Given the description of an element on the screen output the (x, y) to click on. 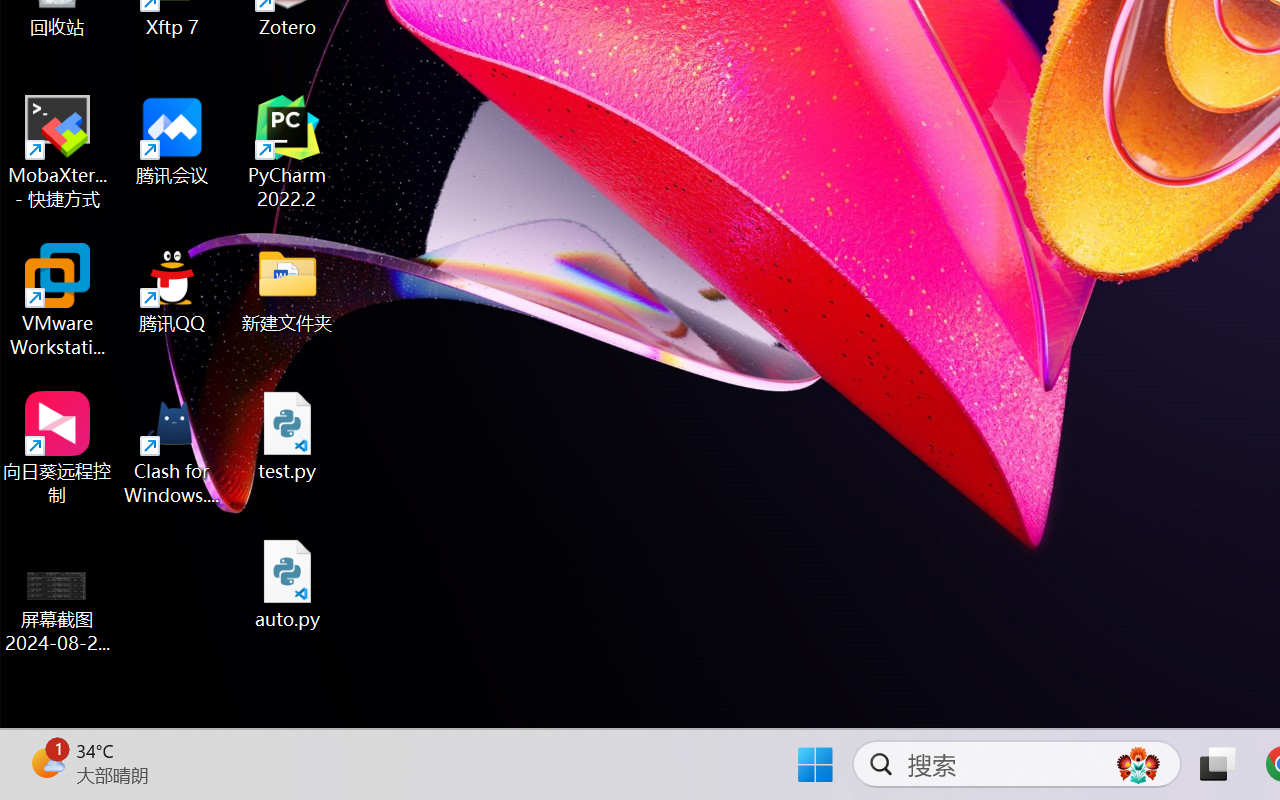
PyCharm 2022.2 (287, 152)
